Given the description of an element on the screen output the (x, y) to click on. 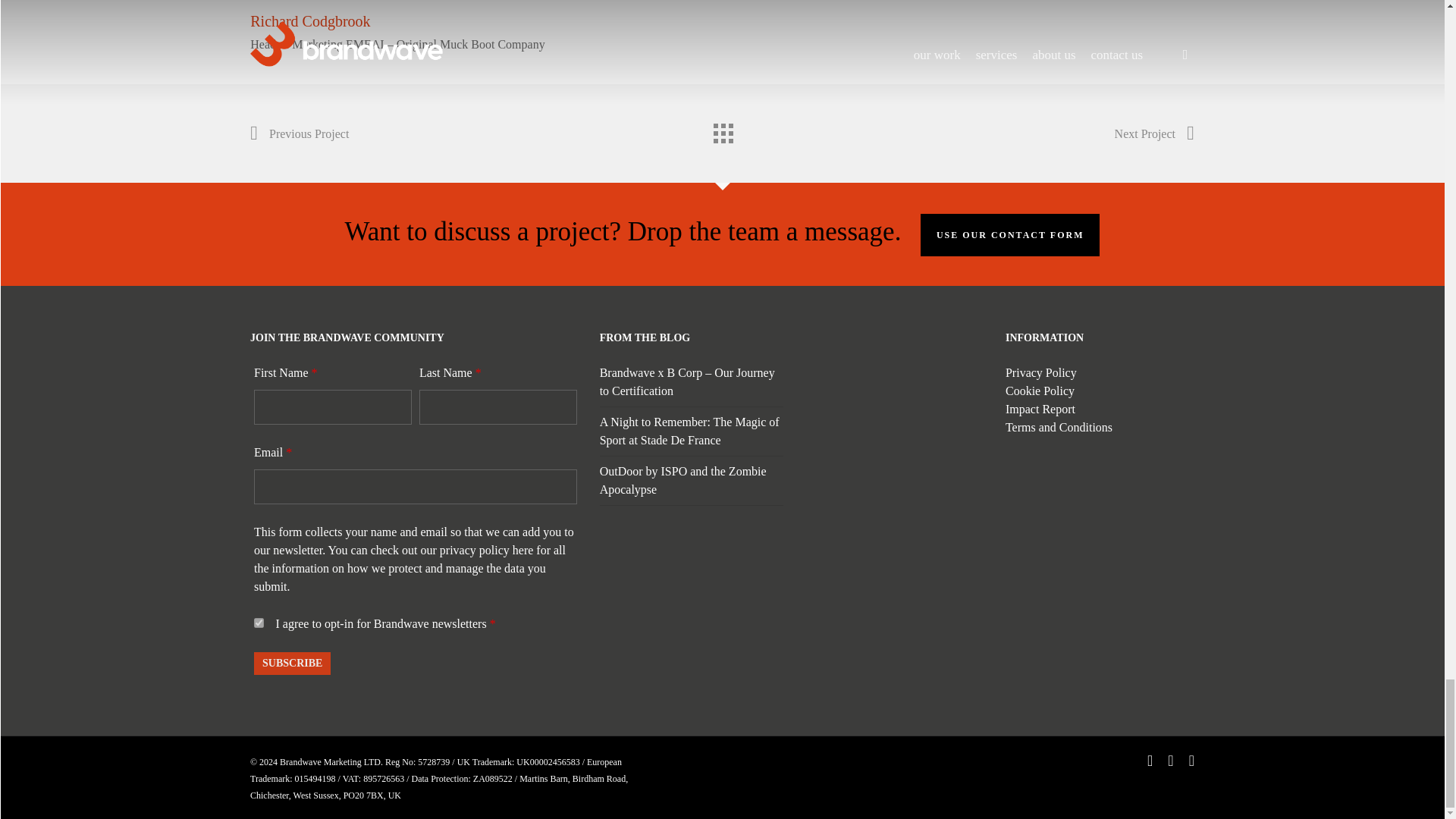
1 (258, 623)
Subscribe (291, 662)
Back to all projects (721, 129)
Terms and Conditions (1059, 427)
privacy policy here (486, 549)
Subscribe (291, 662)
Cookie Policy (1040, 390)
USE OUR CONTACT FORM (1010, 233)
A Night to Remember: The Magic of Sport at Stade De France (688, 429)
OutDoor by ISPO and the Zombie Apocalypse (683, 480)
